Given the description of an element on the screen output the (x, y) to click on. 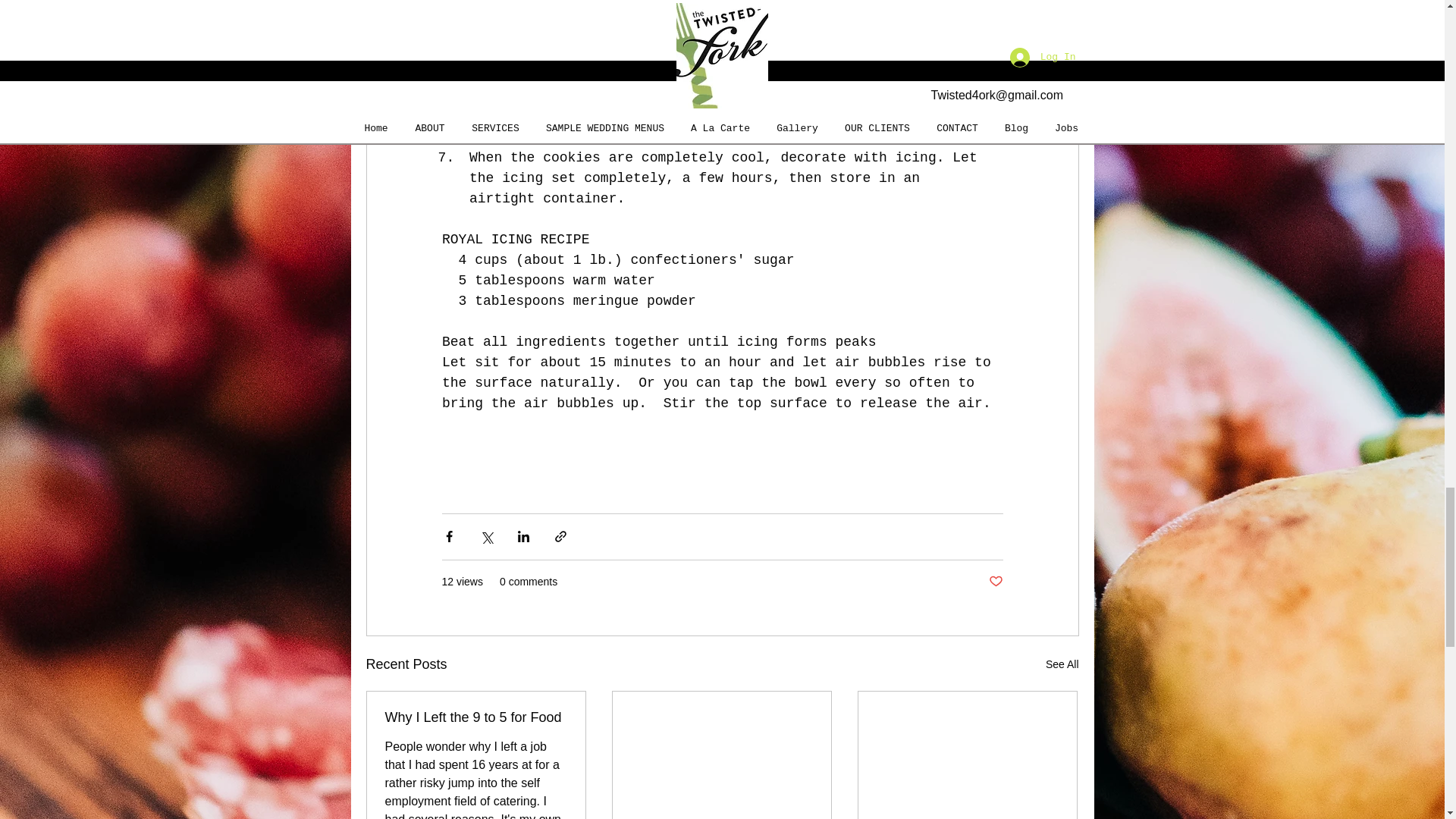
Post not marked as liked (995, 581)
Why I Left the 9 to 5 for Food (476, 717)
See All (1061, 664)
